Given the description of an element on the screen output the (x, y) to click on. 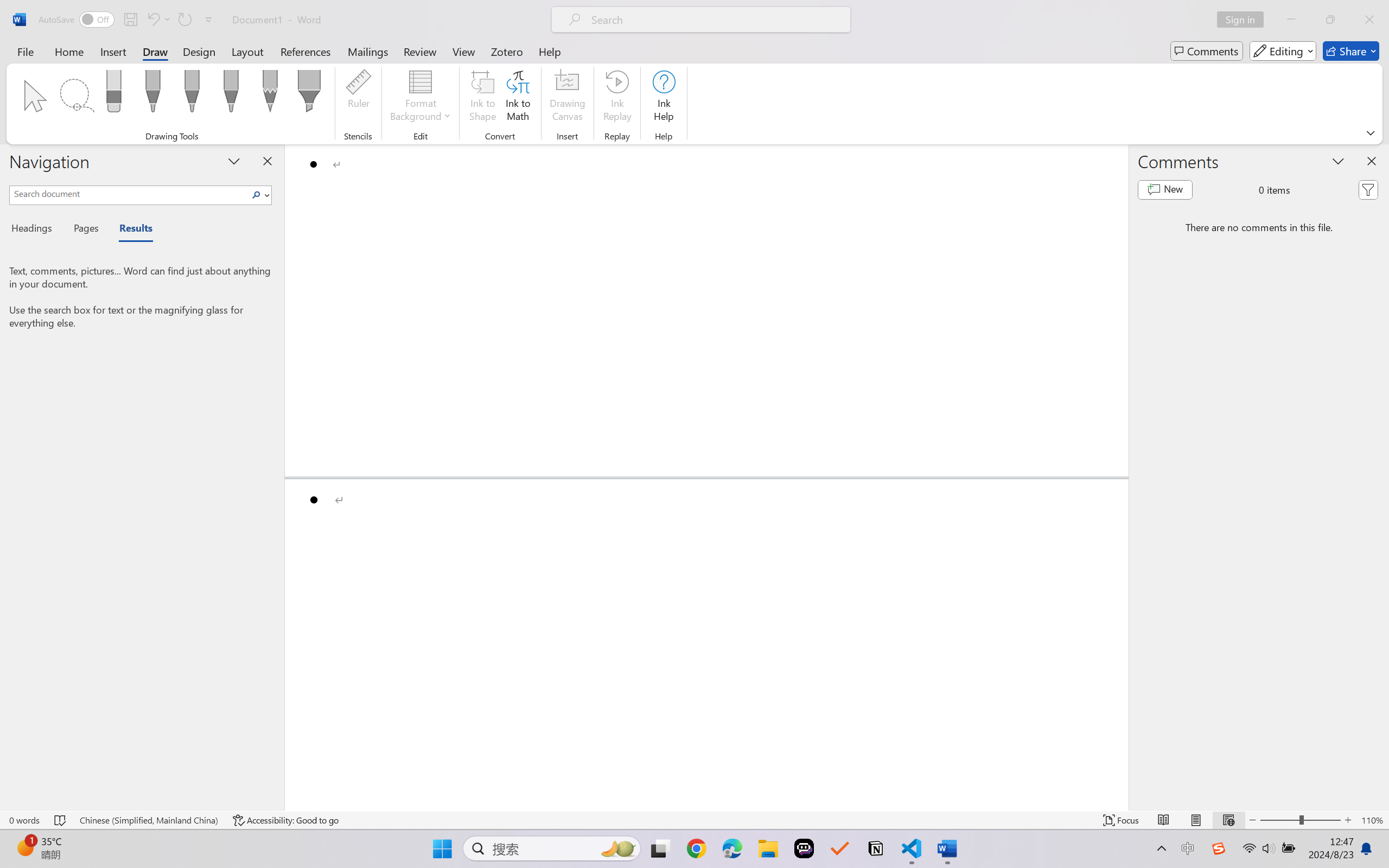
Can't Repeat (184, 19)
Pen: Red, 0.5 mm (191, 94)
Highlighter: Yellow, 6 mm (309, 94)
